Given the description of an element on the screen output the (x, y) to click on. 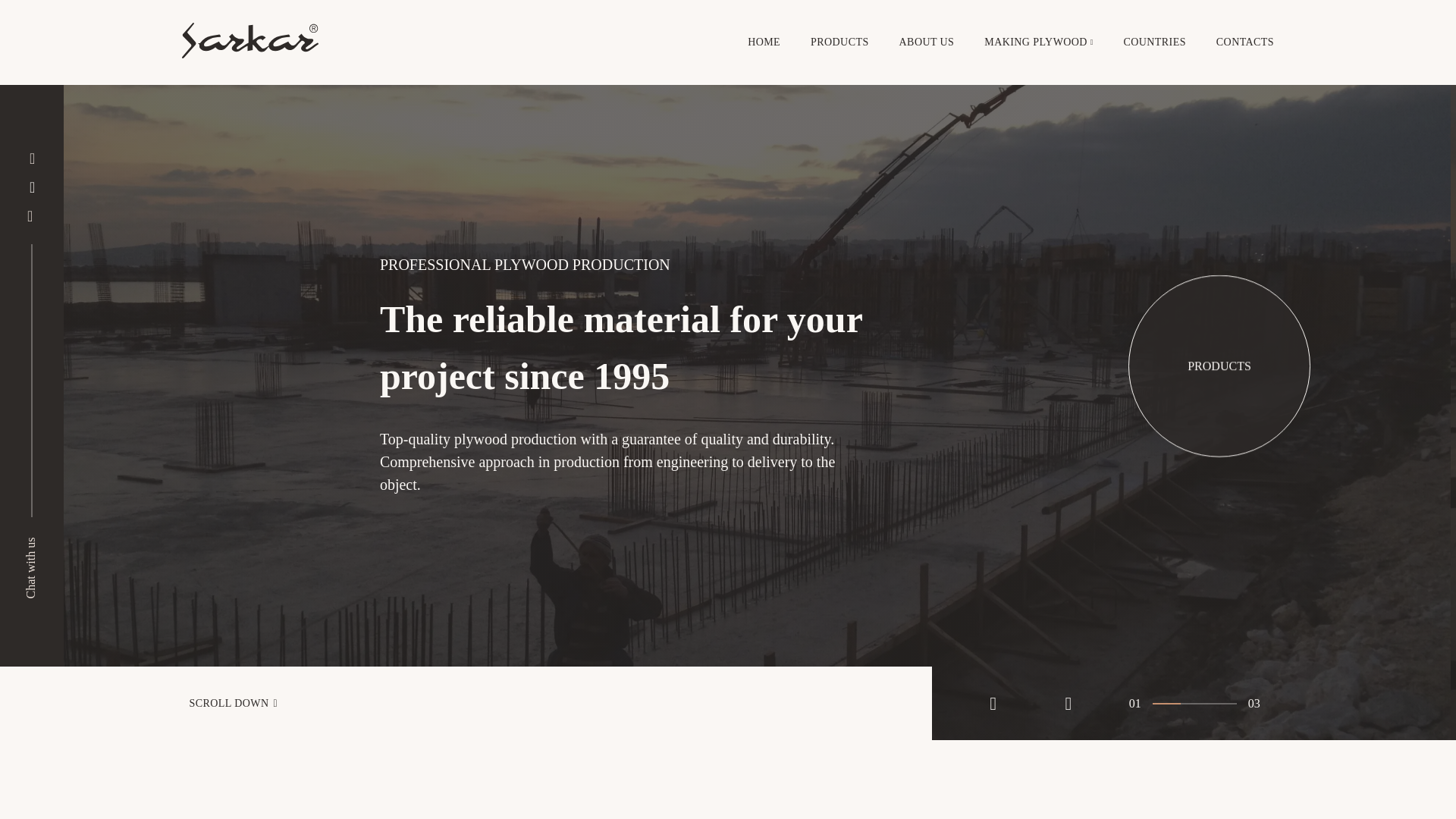
PRODUCTS (839, 41)
SCROLL DOWN (465, 703)
CONTACTS (1244, 41)
COUNTRIES (1155, 41)
HOME (764, 41)
PRODUCTS (1219, 361)
ABOUT US (927, 41)
MAKING PLYWOOD (1035, 41)
